Given the description of an element on the screen output the (x, y) to click on. 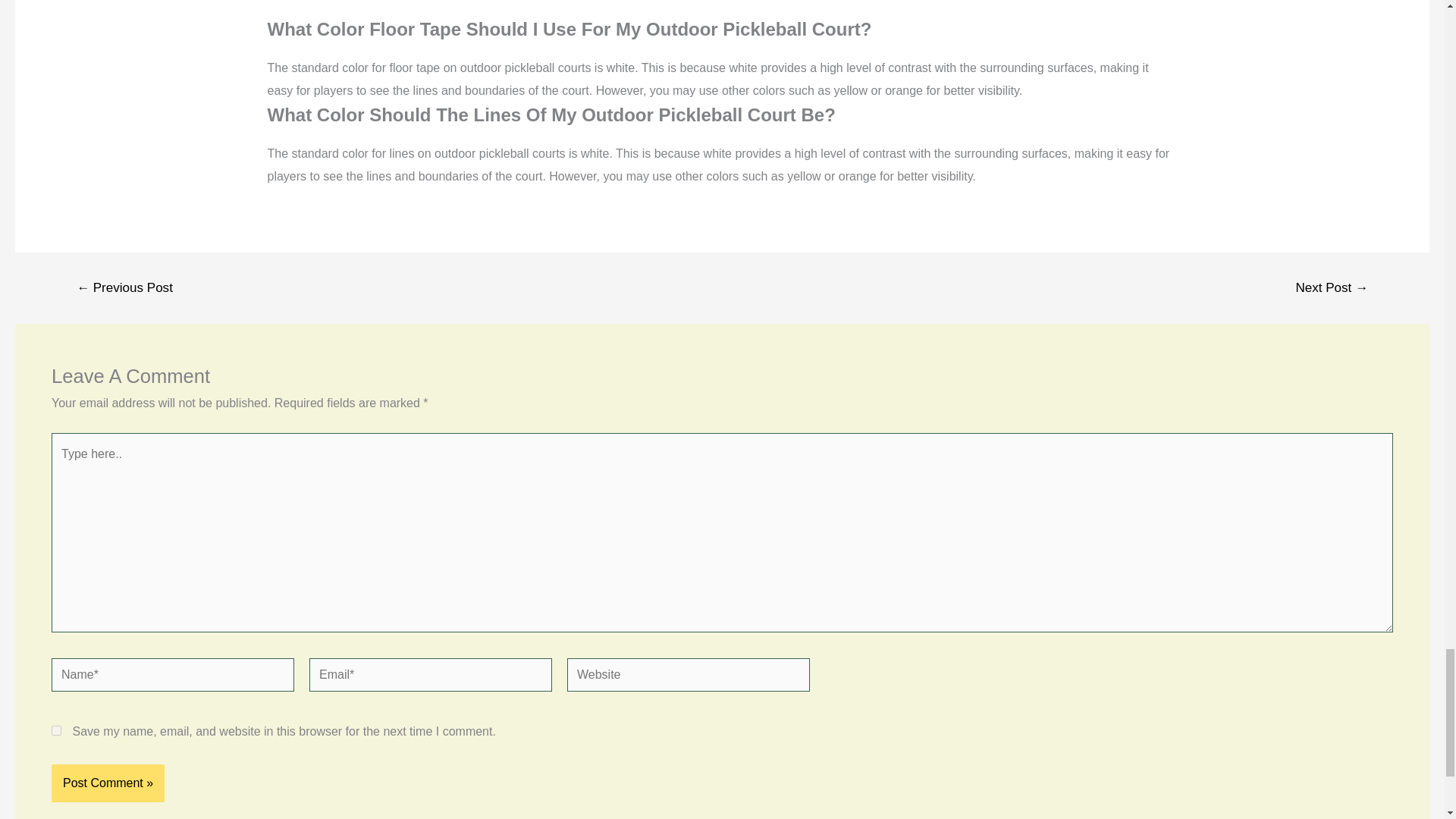
yes (55, 730)
